Given the description of an element on the screen output the (x, y) to click on. 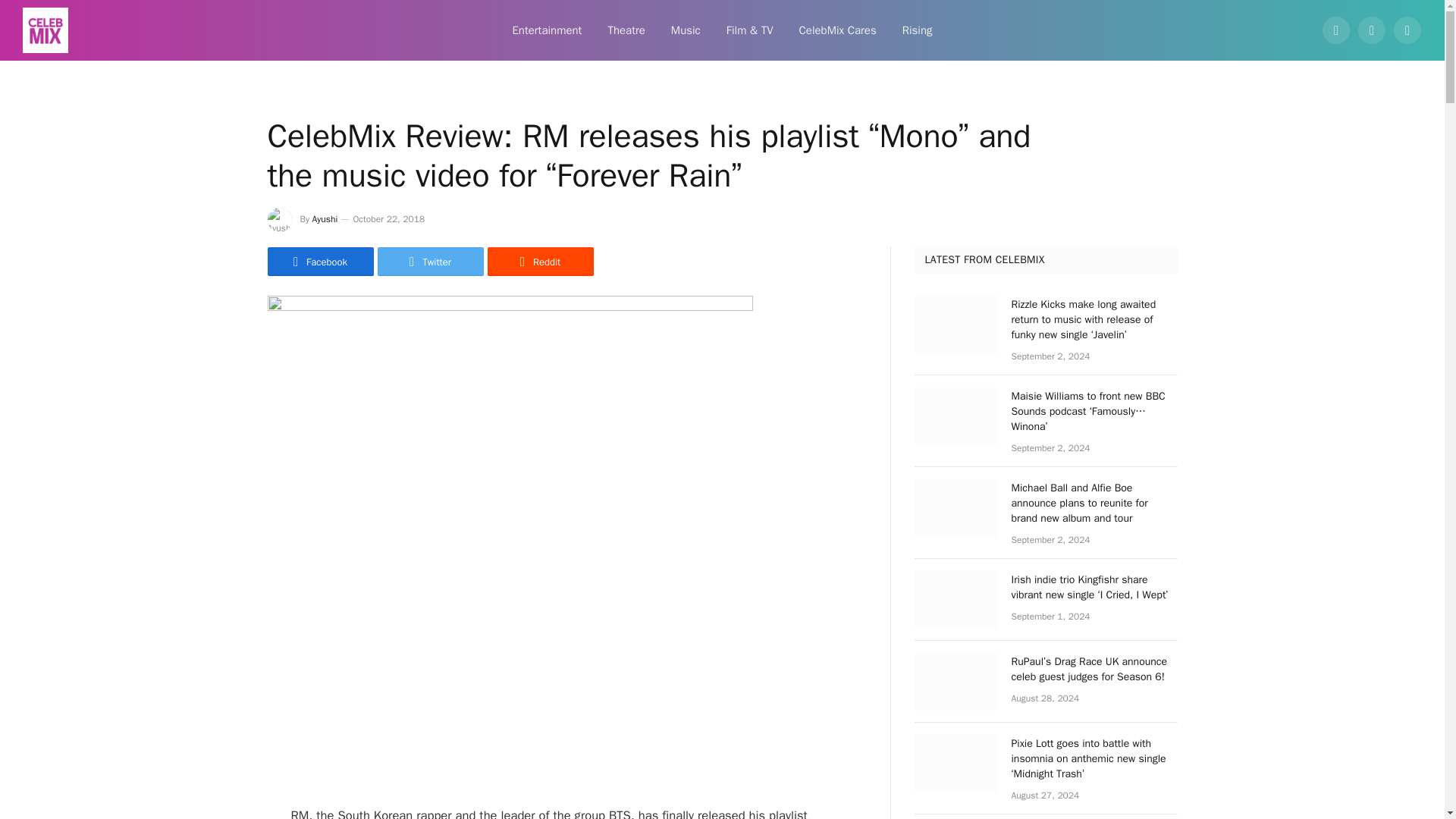
Facebook (319, 261)
Reddit (539, 261)
CelebMix Cares (837, 30)
Theatre (626, 30)
Share on Reddit (539, 261)
Entertainment (546, 30)
Posts by Ayushi (325, 218)
Instagram (1407, 30)
Facebook (1336, 30)
Share on Facebook (319, 261)
